Given the description of an element on the screen output the (x, y) to click on. 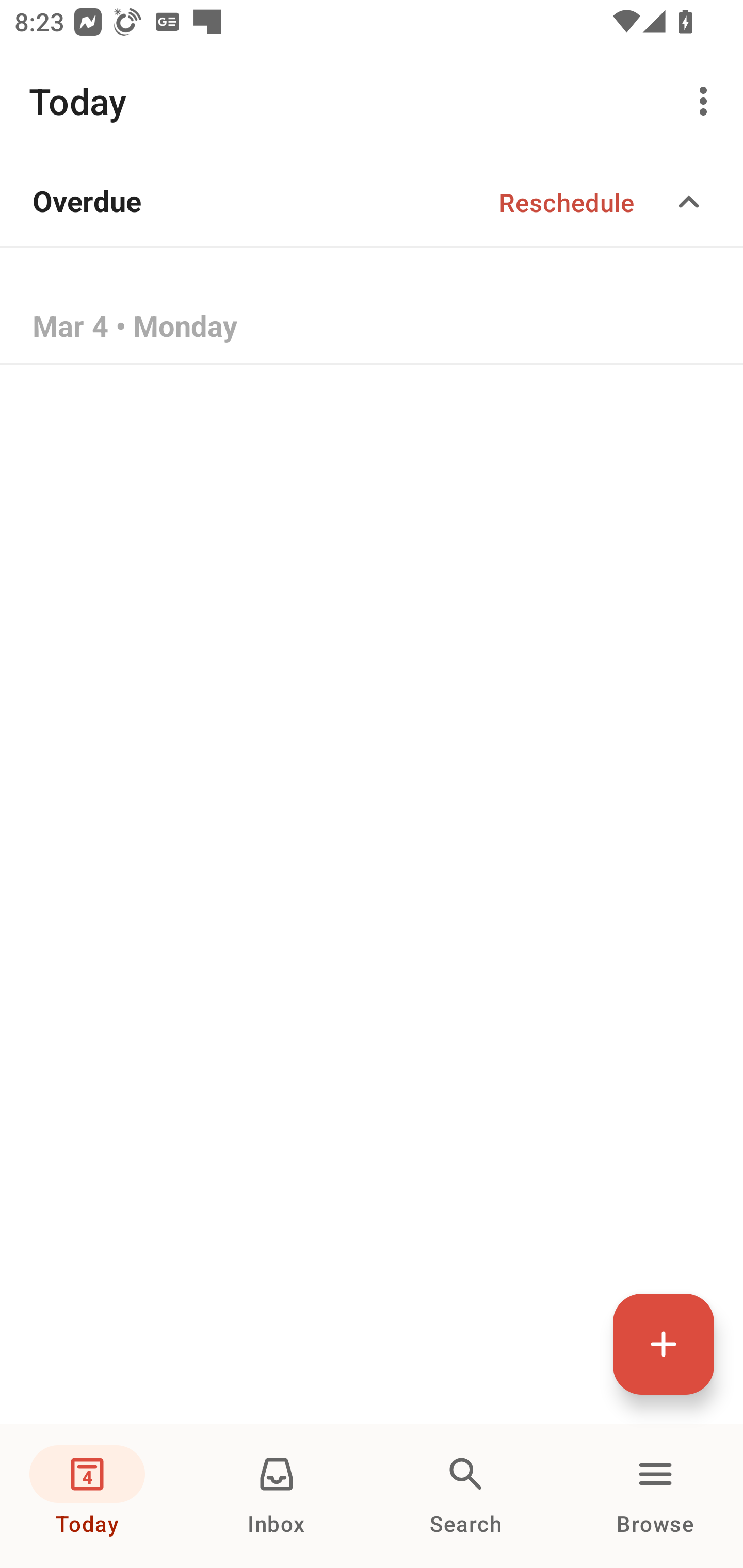
Today More options (371, 100)
More options (706, 101)
Overdue Reschedule Expand/collapse (371, 202)
Reschedule (566, 202)
Mar 4 • Monday (371, 327)
Quick add (663, 1343)
Inbox (276, 1495)
Search (465, 1495)
Browse (655, 1495)
